Given the description of an element on the screen output the (x, y) to click on. 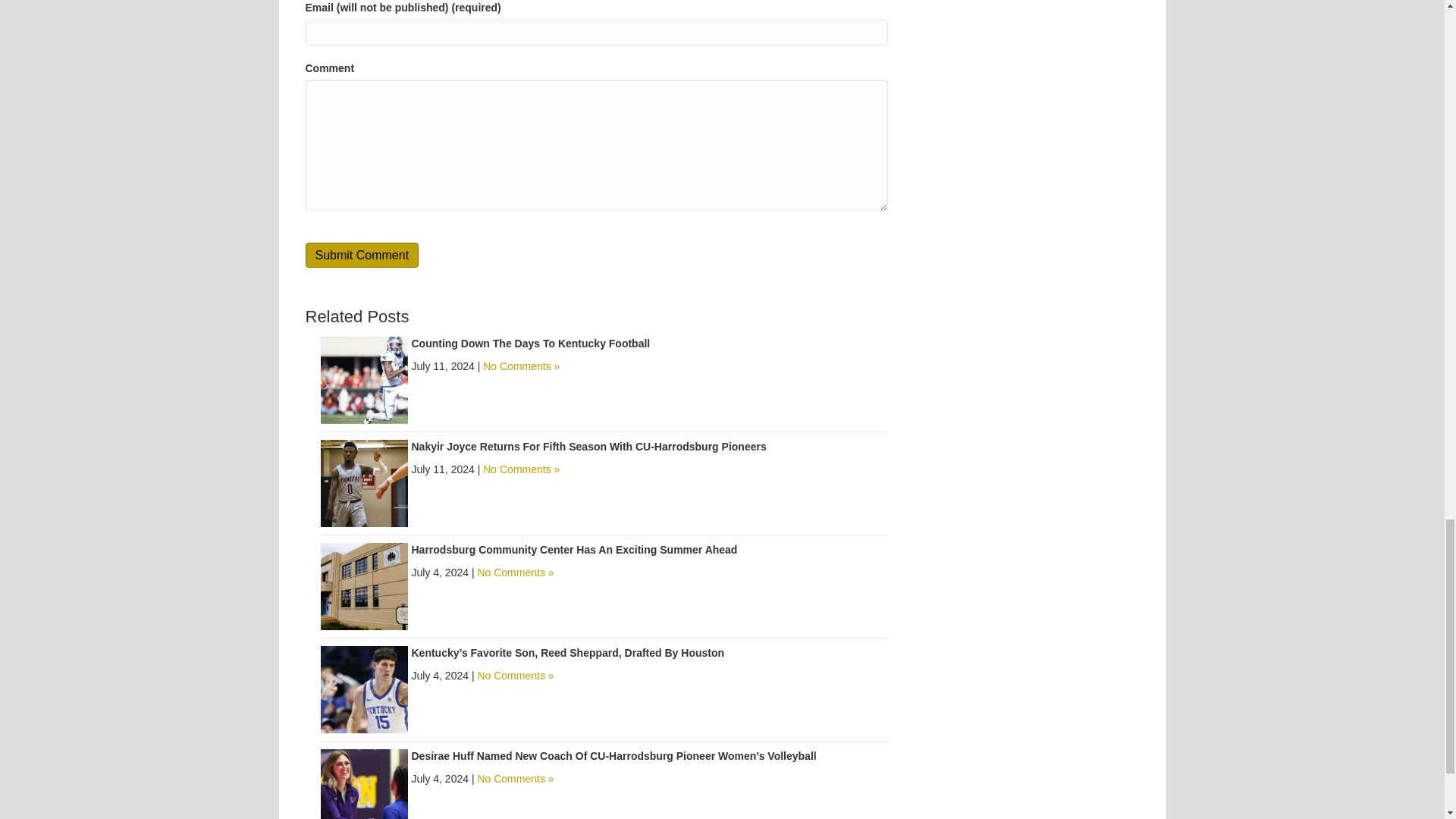
Harrodsburg Community Center Has An Exciting Summer Ahead (573, 549)
Harrodsburg Community Center Has An Exciting Summer Ahead (363, 585)
Counting Down The Days To Kentucky Football (529, 343)
Counting Down The Days To Kentucky Football (363, 378)
Submit Comment (361, 254)
